Given the description of an element on the screen output the (x, y) to click on. 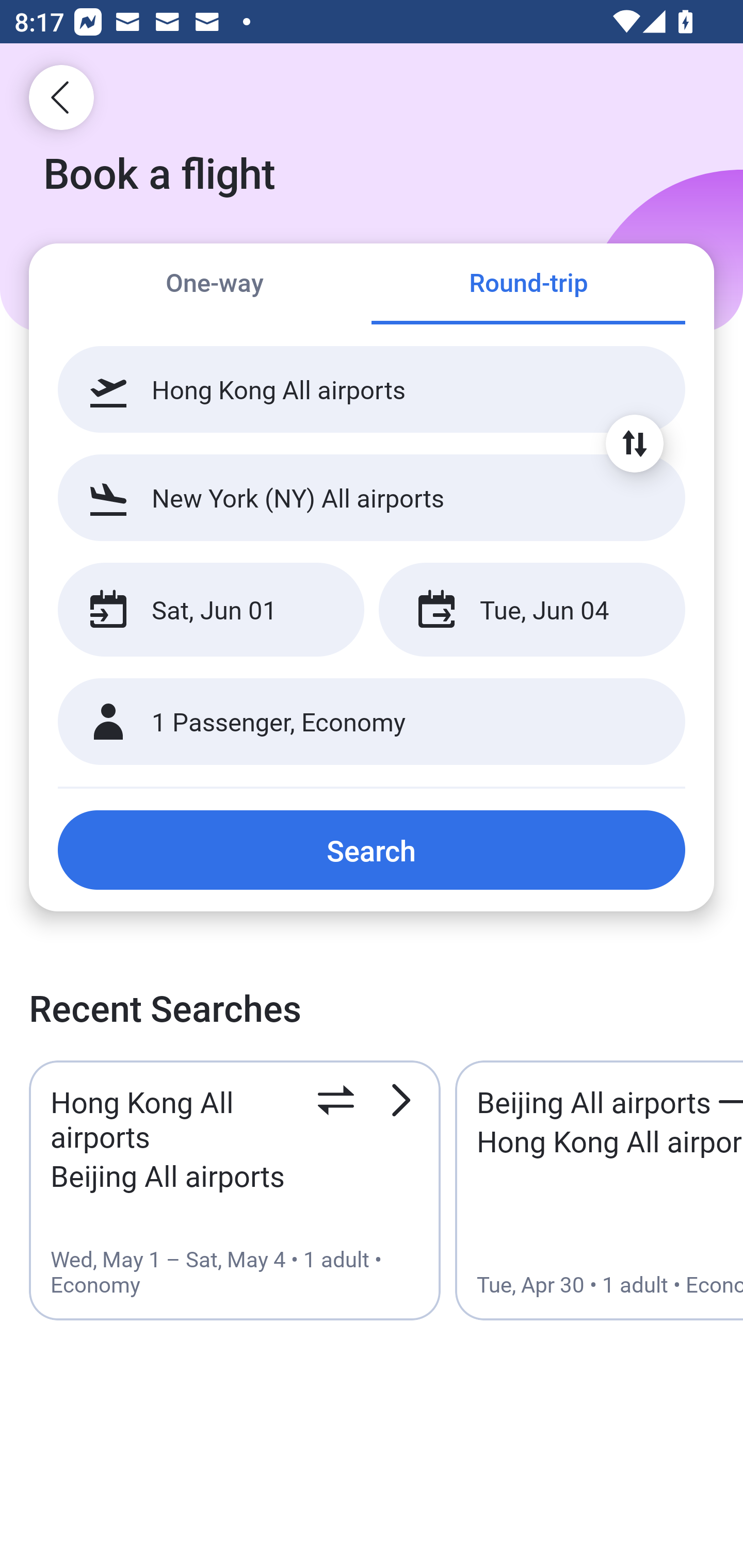
One-way (214, 284)
Hong Kong All airports (371, 389)
New York (NY) All airports (371, 497)
Sat, Jun 01 (210, 609)
Tue, Jun 04 (531, 609)
1 Passenger, Economy (371, 721)
Search (371, 849)
